Given the description of an element on the screen output the (x, y) to click on. 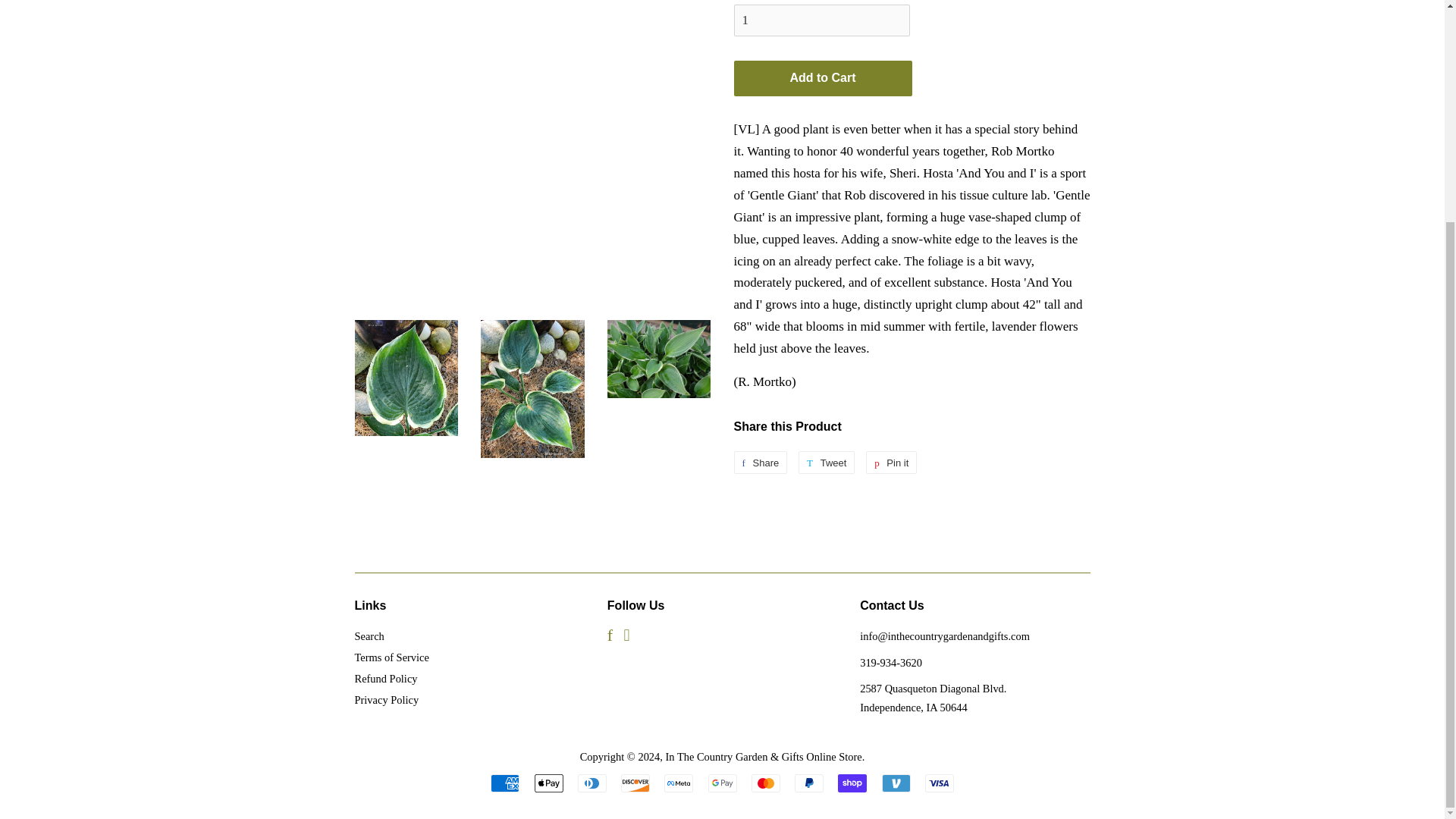
Discover (635, 782)
Share on Facebook (760, 462)
Shop Pay (852, 782)
Venmo (895, 782)
Mastercard (765, 782)
Tweet on Twitter (825, 462)
Visa (938, 782)
Google Pay (721, 782)
Diners Club (592, 782)
Apple Pay (548, 782)
Pin on Pinterest (891, 462)
1 (821, 20)
American Express (504, 782)
PayPal (809, 782)
Meta Pay (678, 782)
